Given the description of an element on the screen output the (x, y) to click on. 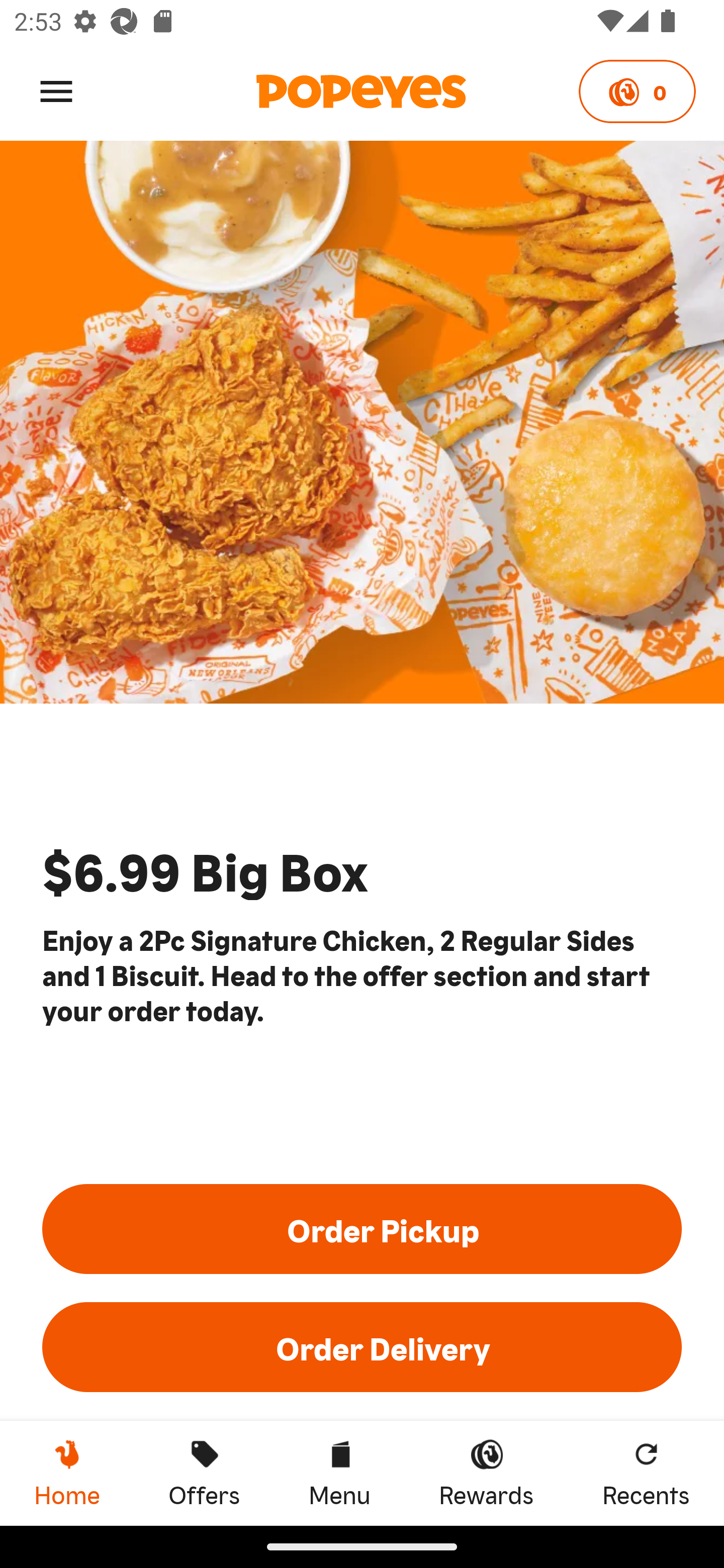
Menu  (56, 90)
0 Points 0 (636, 91)
Order Pickup (361, 1228)
Order Delivery (361, 1346)
Home, current page Home Home, current page (66, 1472)
Offers Offers Offers (203, 1472)
Menu Menu Menu (339, 1472)
Rewards Rewards Rewards (486, 1472)
Recents Recents Recents (646, 1472)
